Given the description of an element on the screen output the (x, y) to click on. 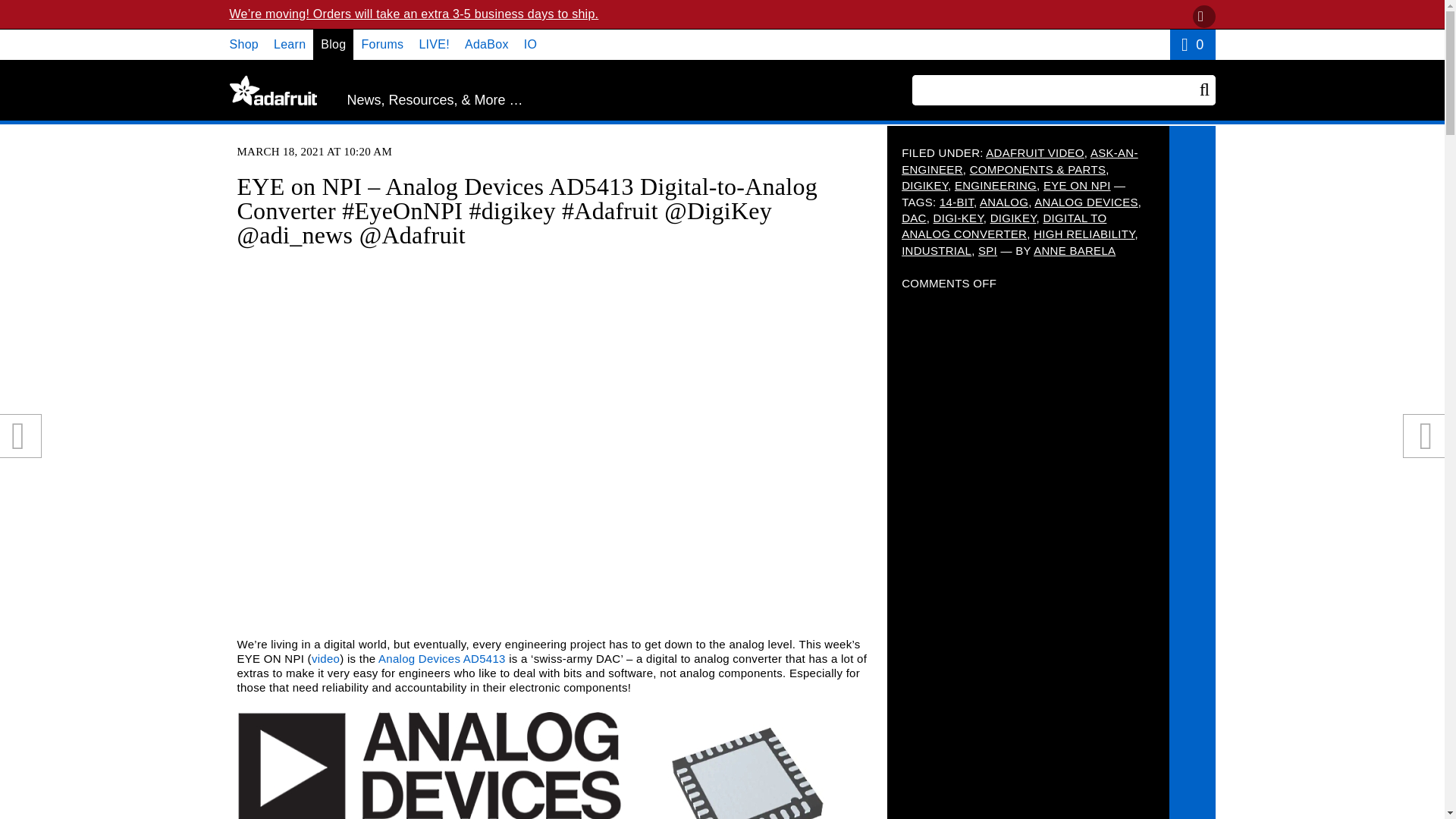
Adafruit (271, 90)
